Given the description of an element on the screen output the (x, y) to click on. 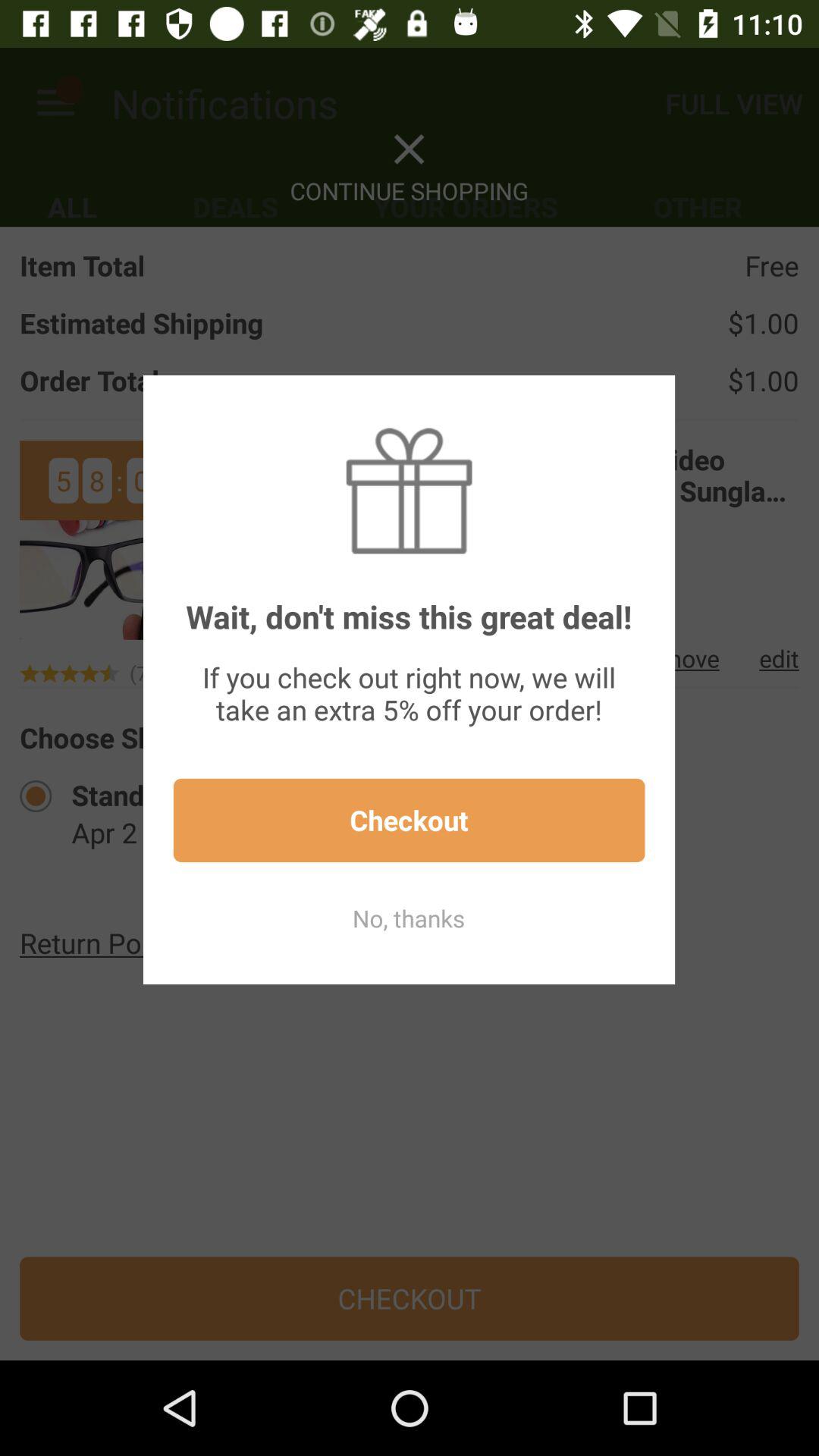
swipe to checkout icon (408, 820)
